Given the description of an element on the screen output the (x, y) to click on. 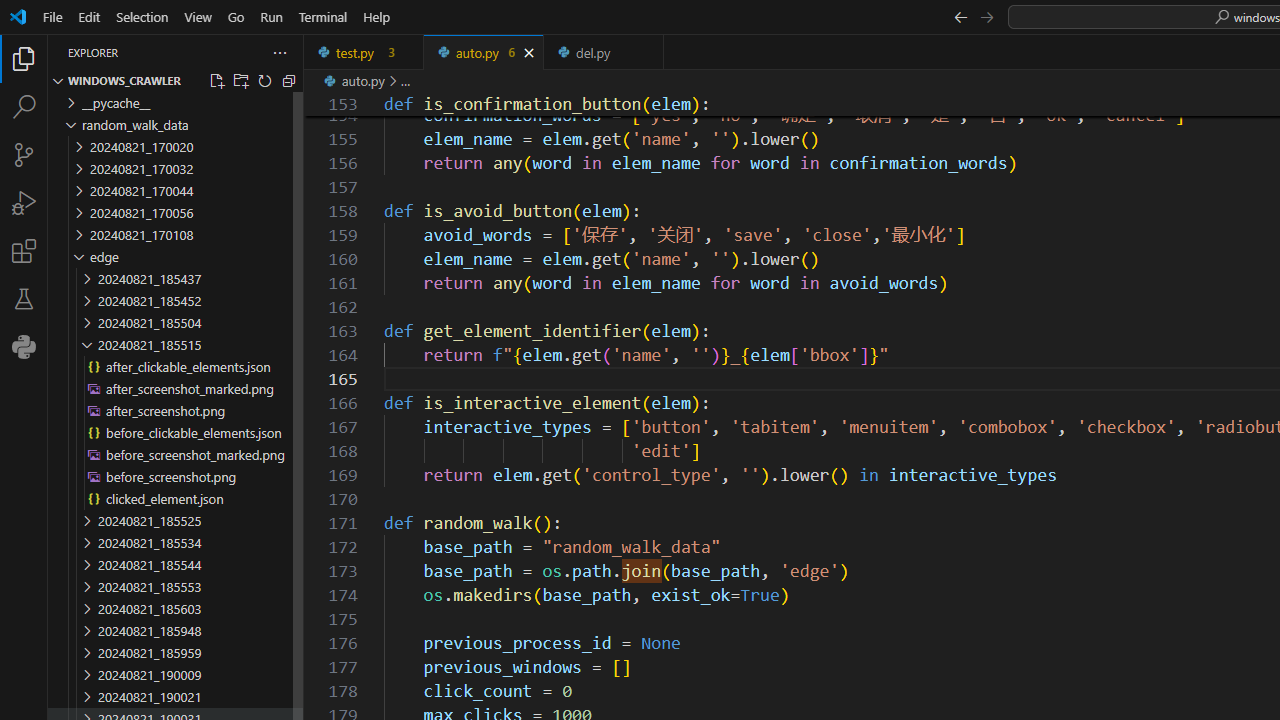
Go Back (Alt+LeftArrow) (960, 16)
Go (235, 16)
Views and More Actions... (279, 52)
Source Control (Ctrl+Shift+G) (24, 155)
Python (24, 346)
auto.py (483, 52)
Refresh Explorer (264, 80)
test.py (363, 52)
Search (Ctrl+Shift+F) (24, 106)
Testing (24, 299)
windows_crawler actions (255, 80)
Run (271, 16)
Explorer Section: windows_crawler (175, 80)
